Given the description of an element on the screen output the (x, y) to click on. 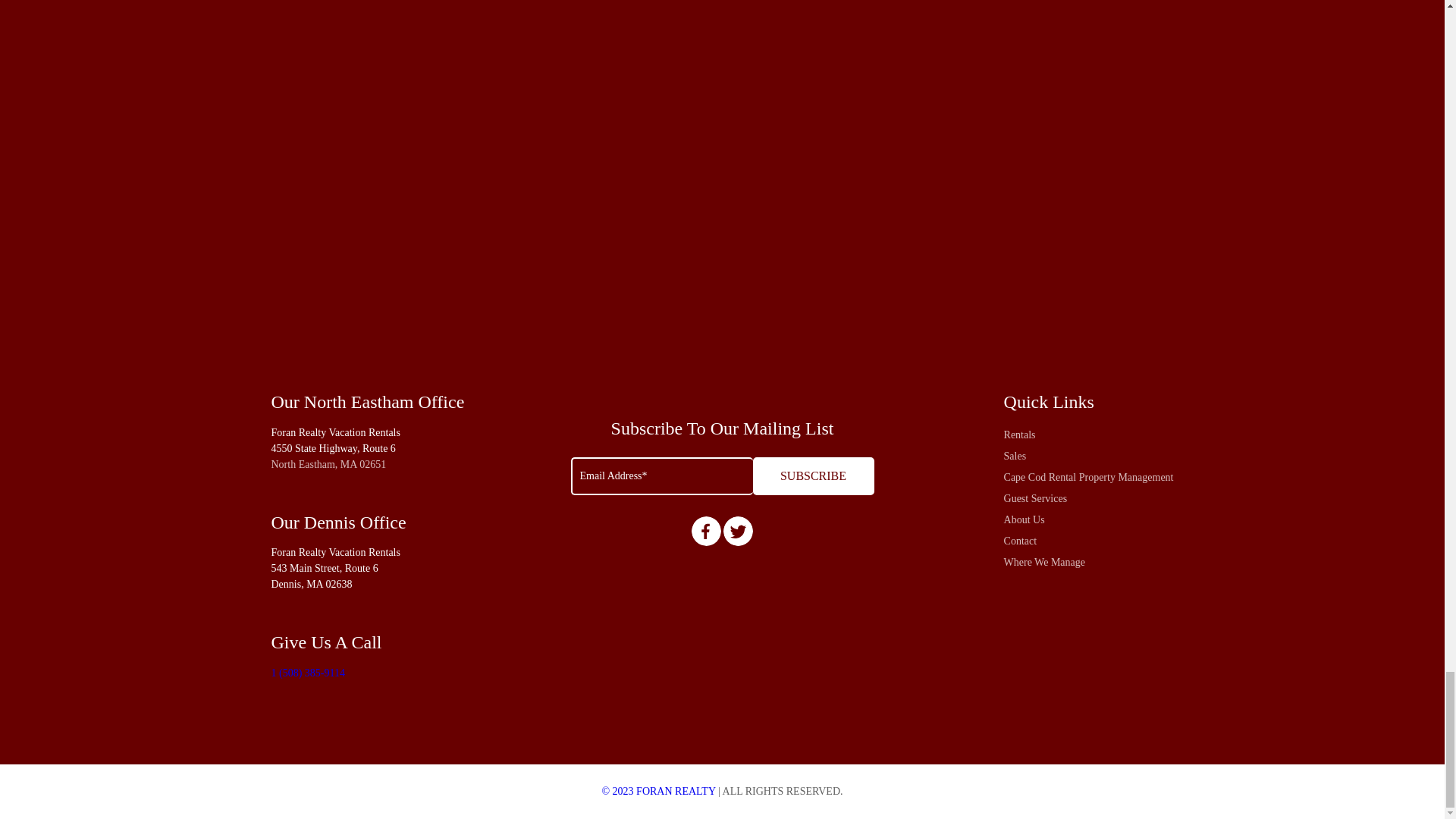
Subscribe (812, 476)
